Given the description of an element on the screen output the (x, y) to click on. 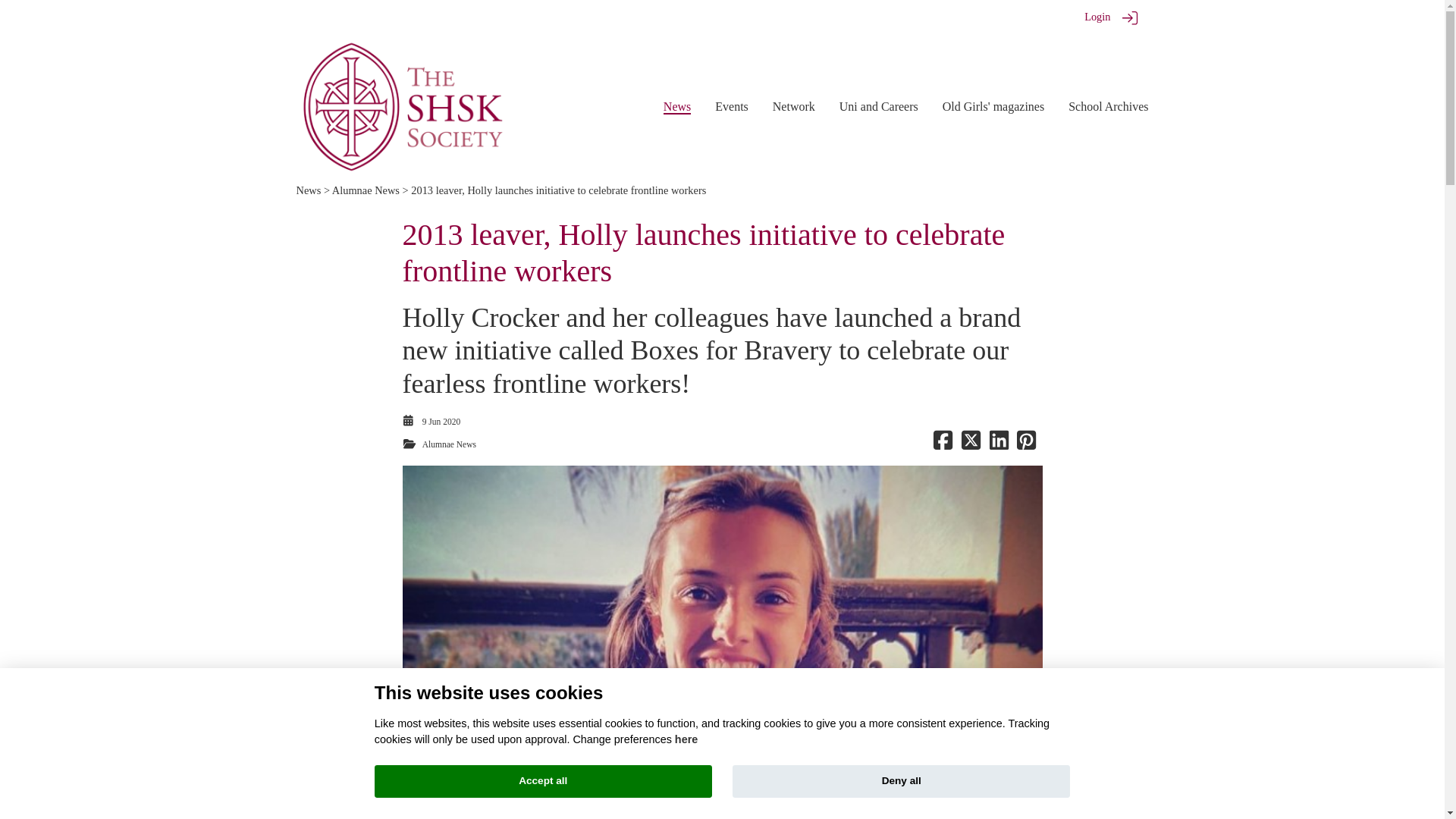
School Archives (1108, 106)
Old Girls' magazines (992, 106)
Network (794, 106)
News (307, 190)
Alumnae News (449, 443)
Share on Pinterest (1025, 444)
Share on LinkedIn (997, 444)
Share on Twitter (969, 444)
Events (731, 106)
Login (1096, 16)
Alumnae News (364, 190)
Uni and Careers (879, 106)
Share on Facebook (942, 444)
News (676, 106)
